Given the description of an element on the screen output the (x, y) to click on. 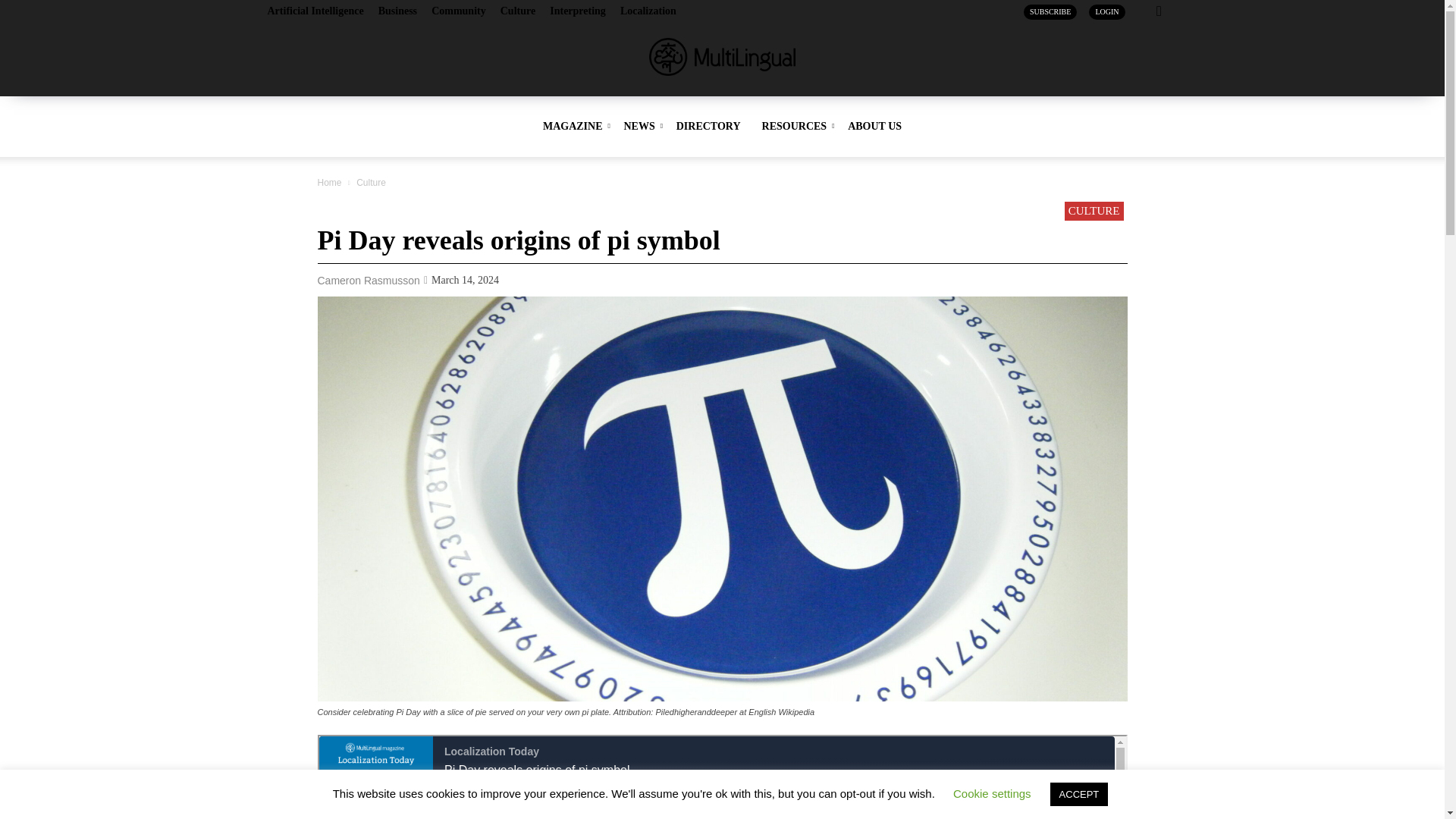
Community (458, 10)
Artificial Intelligence (314, 10)
Business (397, 10)
View all posts in Culture (370, 182)
